Given the description of an element on the screen output the (x, y) to click on. 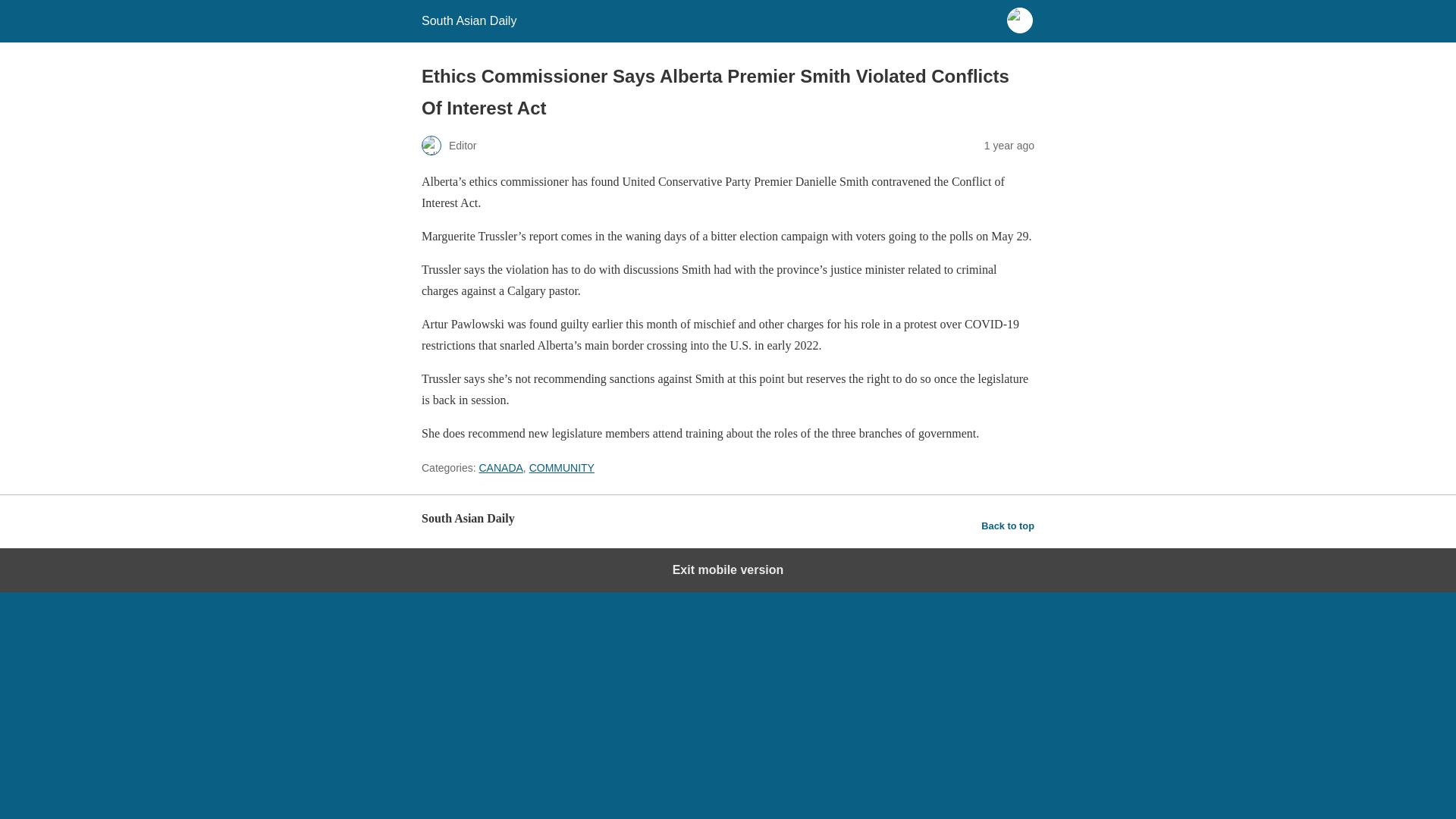
COMMUNITY (561, 467)
CANADA (500, 467)
South Asian Daily (469, 20)
Back to top (1007, 526)
